Given the description of an element on the screen output the (x, y) to click on. 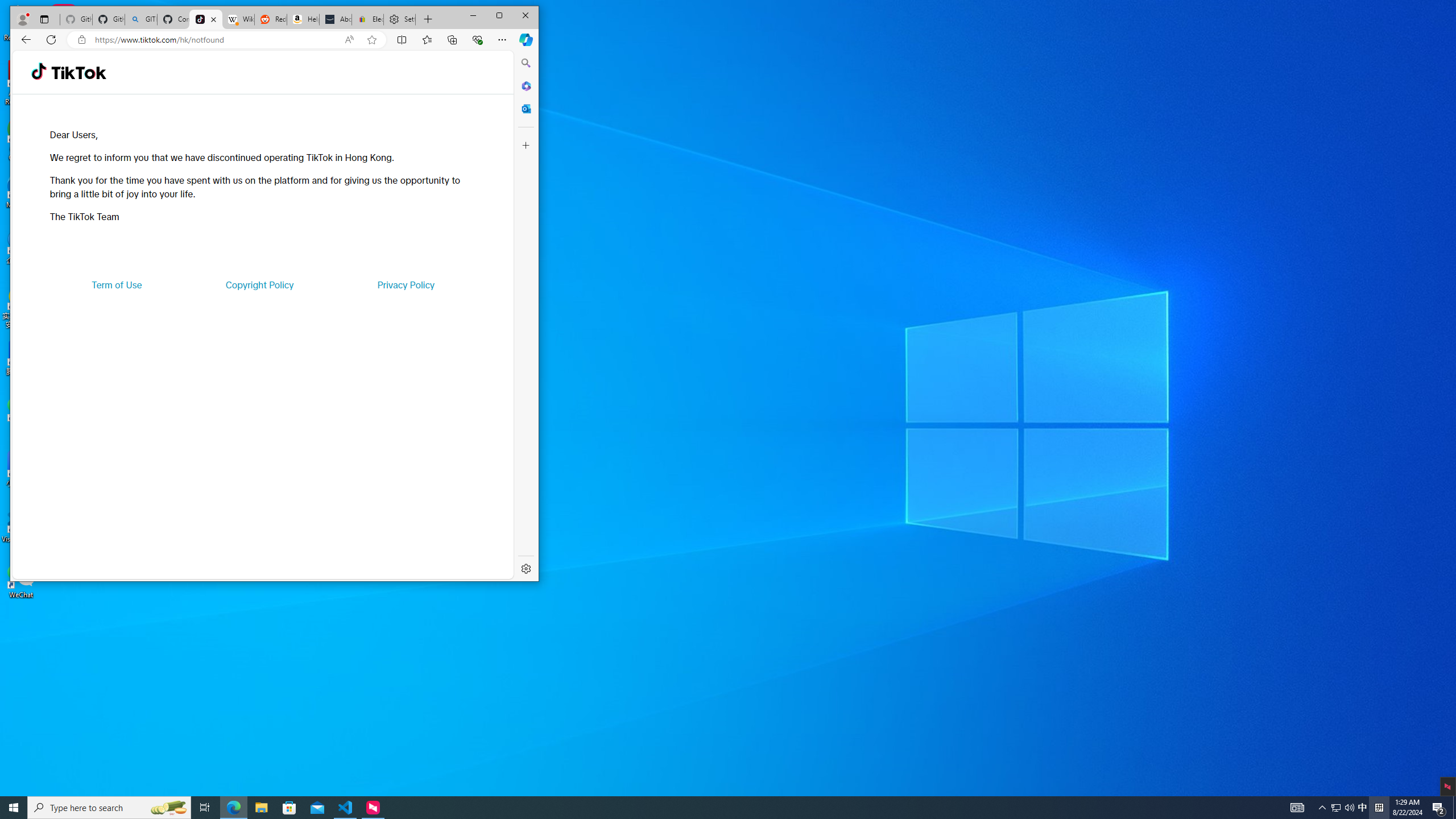
TikTok (205, 19)
Electronics, Cars, Fashion, Collectibles & More | eBay (367, 19)
Tray Input Indicator - Chinese (Simplified, China) (1378, 807)
File Explorer (261, 807)
Microsoft Edge - 1 running window (1335, 807)
Privacy Policy (233, 807)
